Given the description of an element on the screen output the (x, y) to click on. 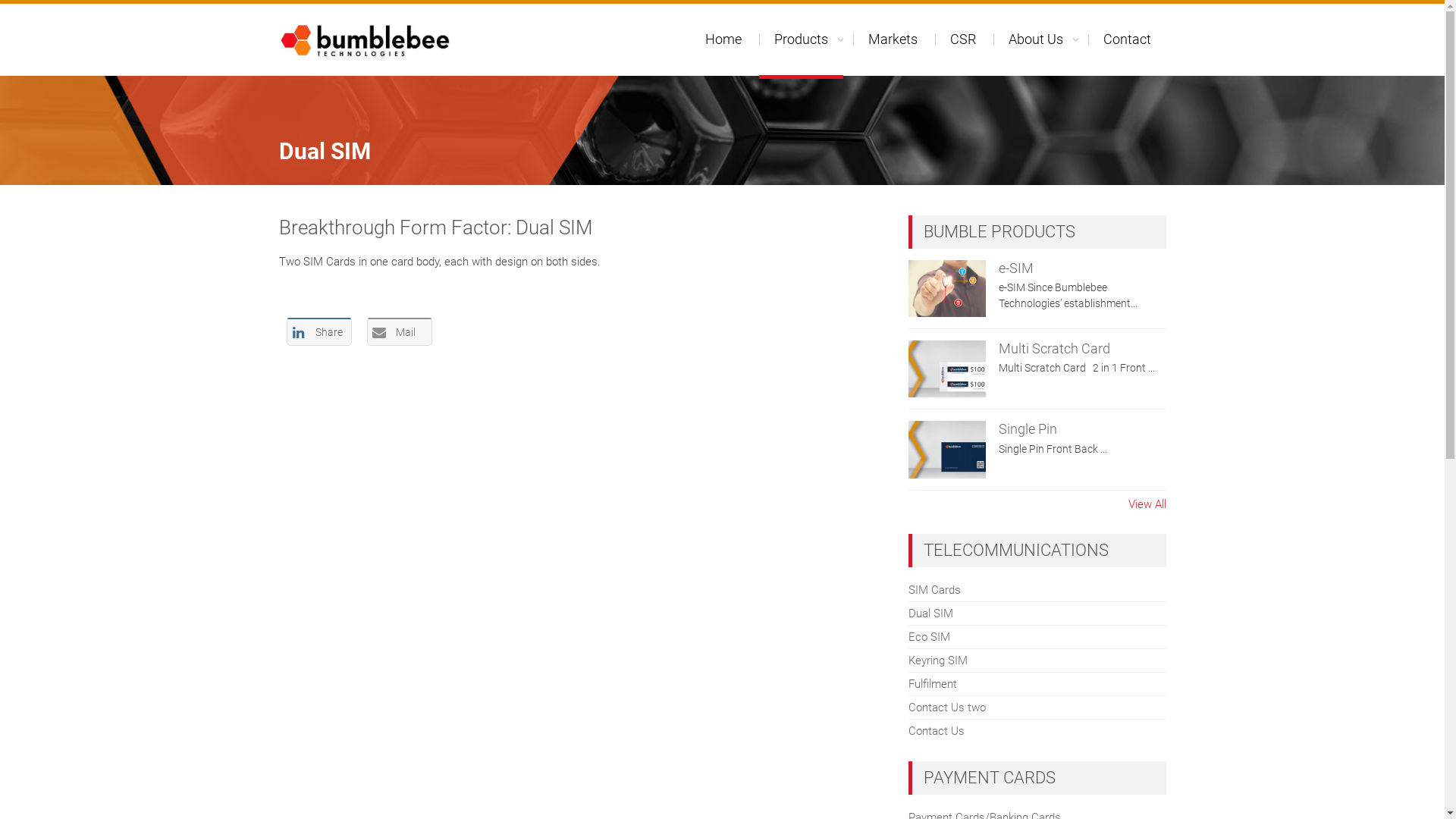
Home Element type: text (723, 39)
Markets Element type: text (891, 39)
Fulfilment Element type: text (932, 683)
CSR Element type: text (962, 39)
Share Element type: text (318, 331)
Dual SIM Element type: text (930, 613)
View All Element type: text (1147, 504)
Contact Us two Element type: text (946, 707)
Mail Element type: text (399, 331)
e-SIM Element type: text (1015, 267)
Eco SIM Element type: text (929, 636)
About Us Element type: text (1035, 39)
Products Element type: text (800, 40)
Contact Element type: text (1126, 39)
Single Pin Element type: text (1027, 428)
SIM Cards Element type: text (934, 589)
Multi Scratch Card Element type: text (1054, 348)
Keyring SIM Element type: text (937, 660)
Contact Us Element type: text (936, 730)
